Given the description of an element on the screen output the (x, y) to click on. 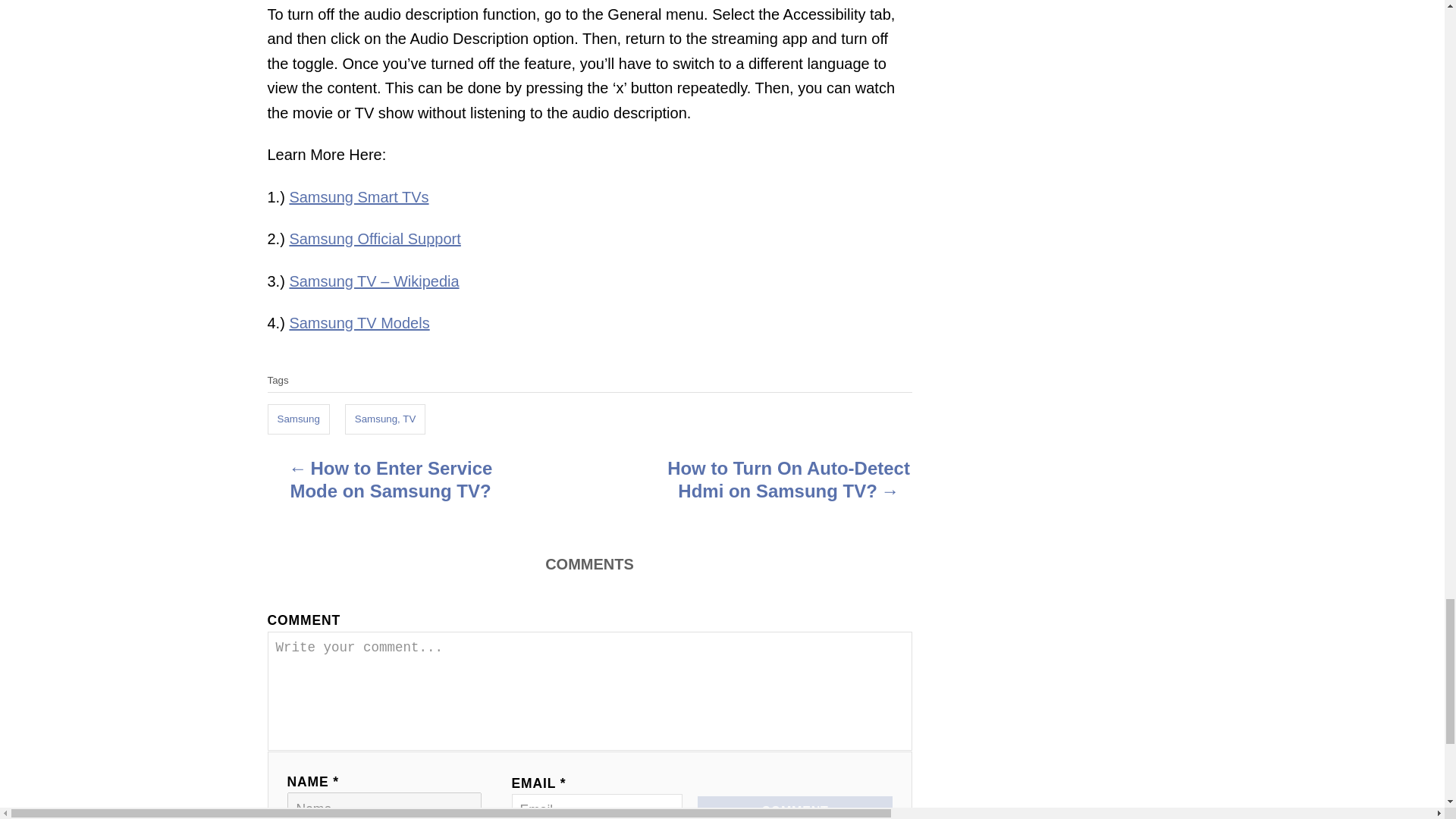
Samsung TV Models (358, 322)
Samsung Official Support (374, 238)
How to Enter Service Mode on Samsung TV? (389, 483)
Samsung Smart TVs (358, 197)
COMMENT (794, 807)
Samsung, TV (385, 419)
How to Turn On Auto-Detect Hdmi on Samsung TV? (788, 483)
Samsung (297, 419)
